Given the description of an element on the screen output the (x, y) to click on. 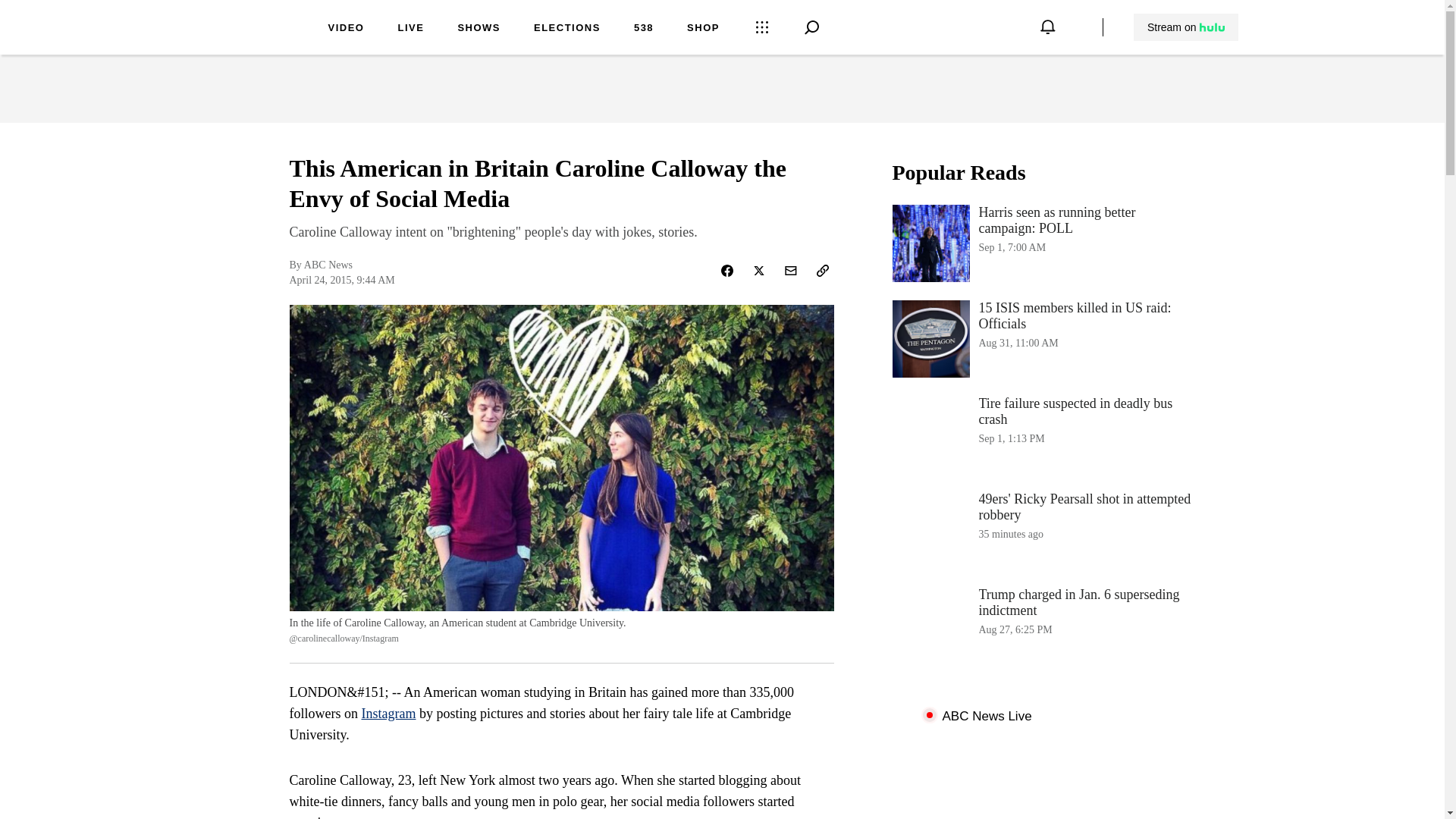
Instagram (1043, 434)
Stream on (387, 713)
LIVE (1186, 26)
SHOP (410, 28)
ELECTIONS (703, 28)
